Given the description of an element on the screen output the (x, y) to click on. 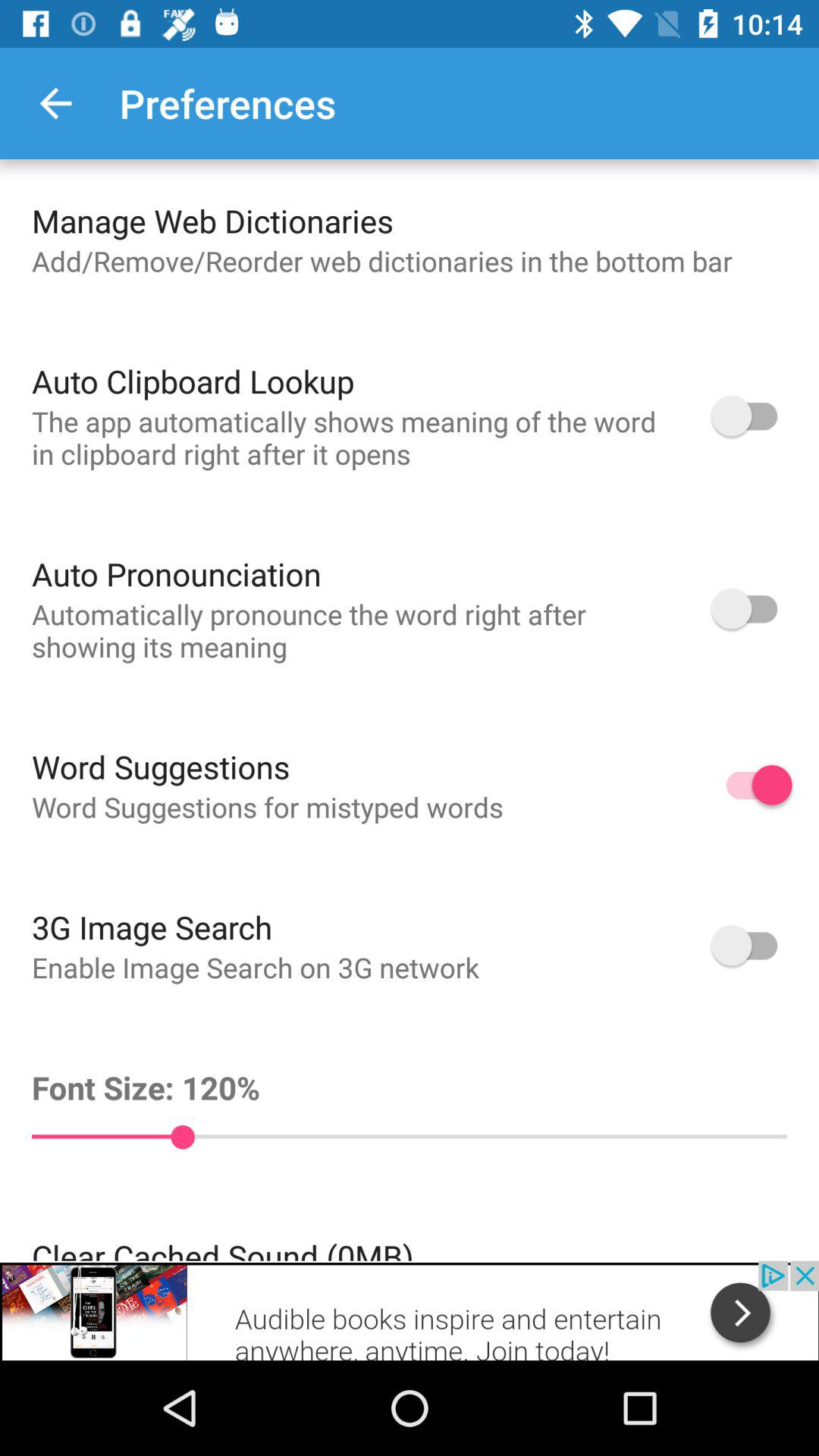
auto pronunciation option (751, 608)
